Given the description of an element on the screen output the (x, y) to click on. 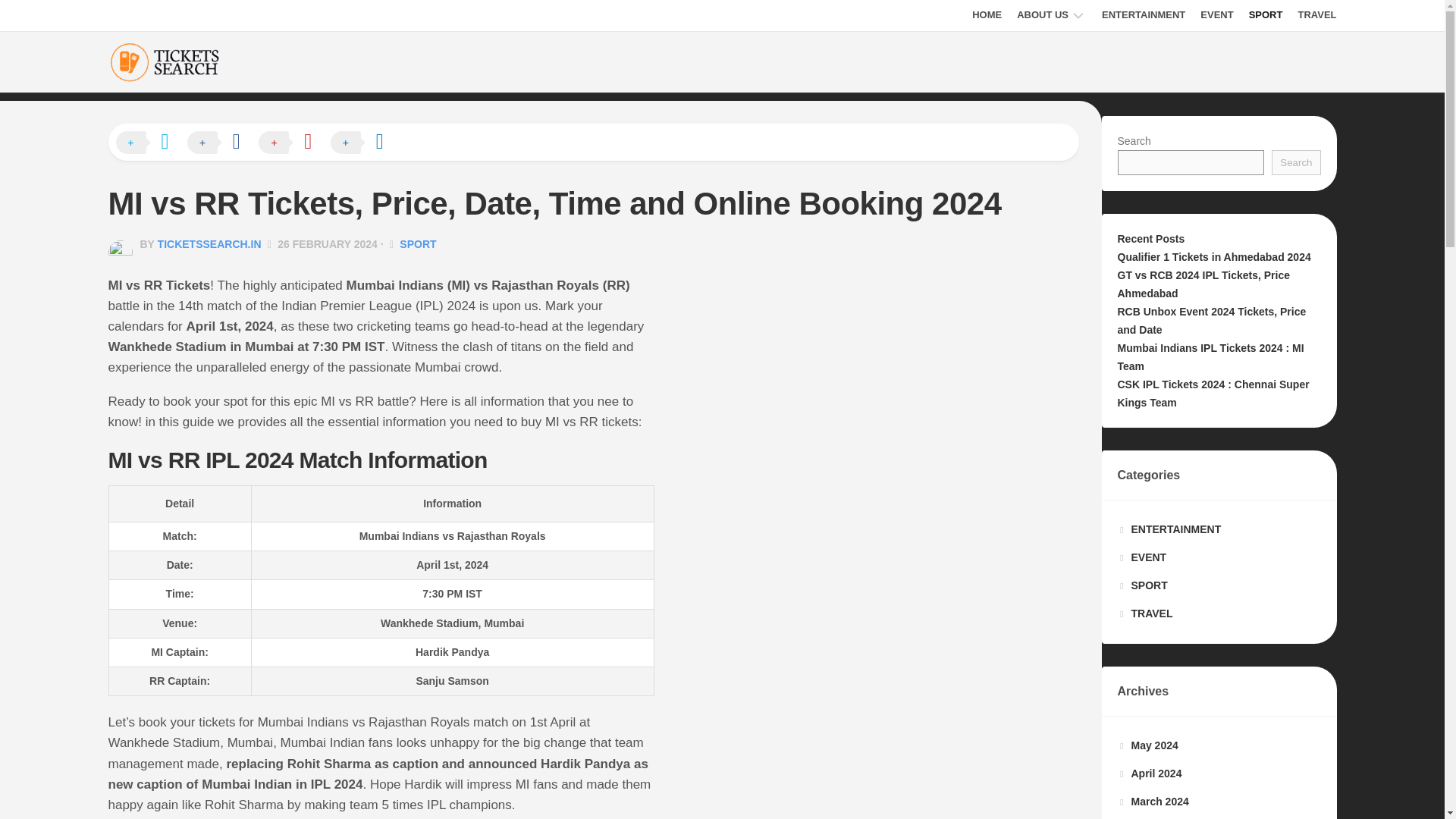
TRAVEL (1316, 14)
ENTERTAINMENT (1143, 14)
HOME (986, 14)
Share on LinkedIn (364, 143)
SPORT (416, 244)
SPORT (1265, 14)
Share on Pinterest (292, 143)
TICKETSSEARCH.IN (209, 244)
Share on X (149, 143)
ABOUT US (1042, 14)
EVENT (1216, 14)
Posts by ticketssearch.in (209, 244)
Share on Facebook (221, 143)
